Given the description of an element on the screen output the (x, y) to click on. 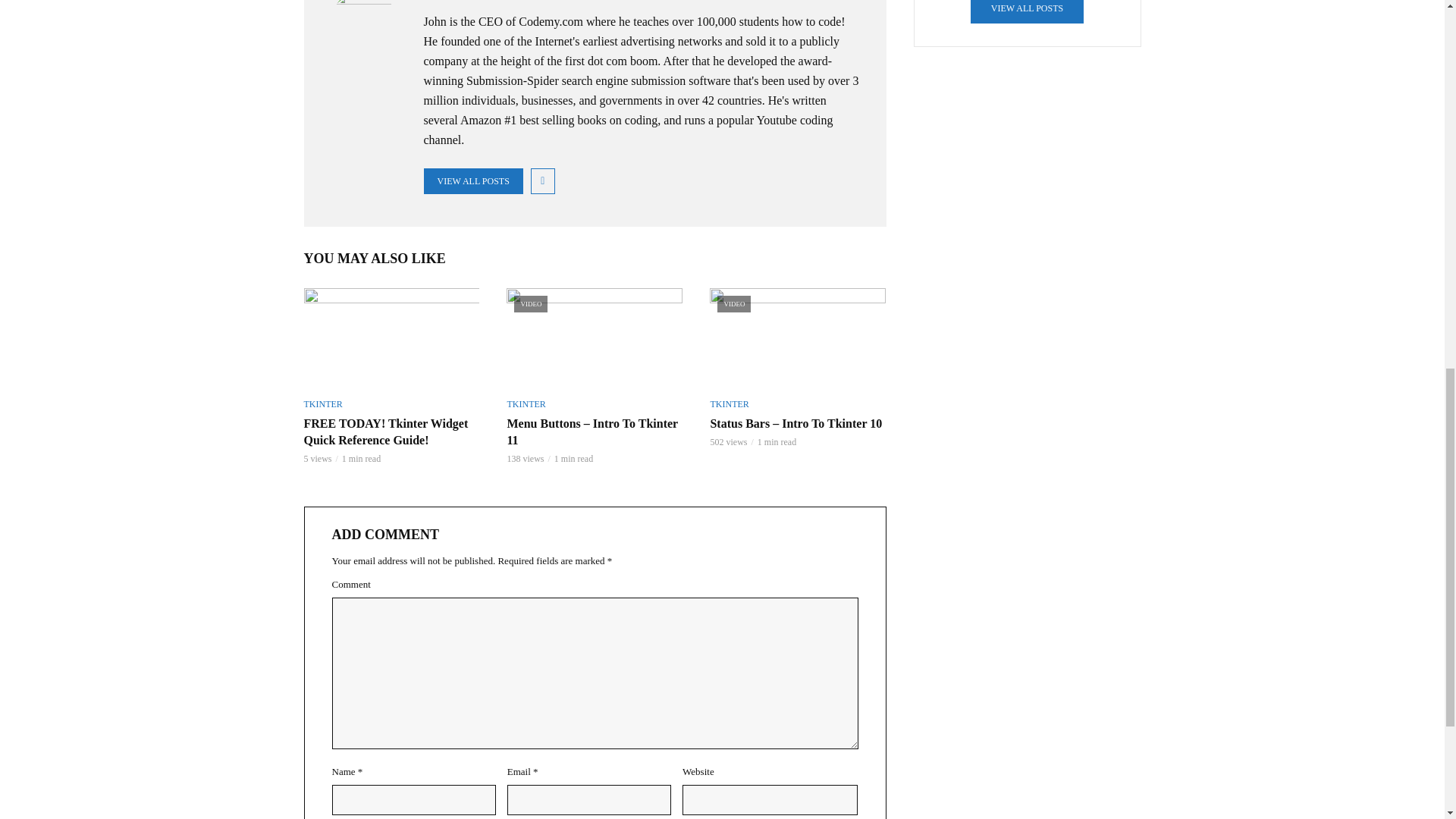
TKINTER (322, 403)
FREE TODAY!  Tkinter Widget Quick Reference Guide! (390, 337)
VIEW ALL POSTS (472, 181)
VIEW ALL POSTS (1027, 11)
TKINTER (525, 403)
VIDEO (594, 337)
FREE TODAY! Tkinter Widget Quick Reference Guide! (390, 431)
TKINTER (729, 403)
VIDEO (797, 337)
